Given the description of an element on the screen output the (x, y) to click on. 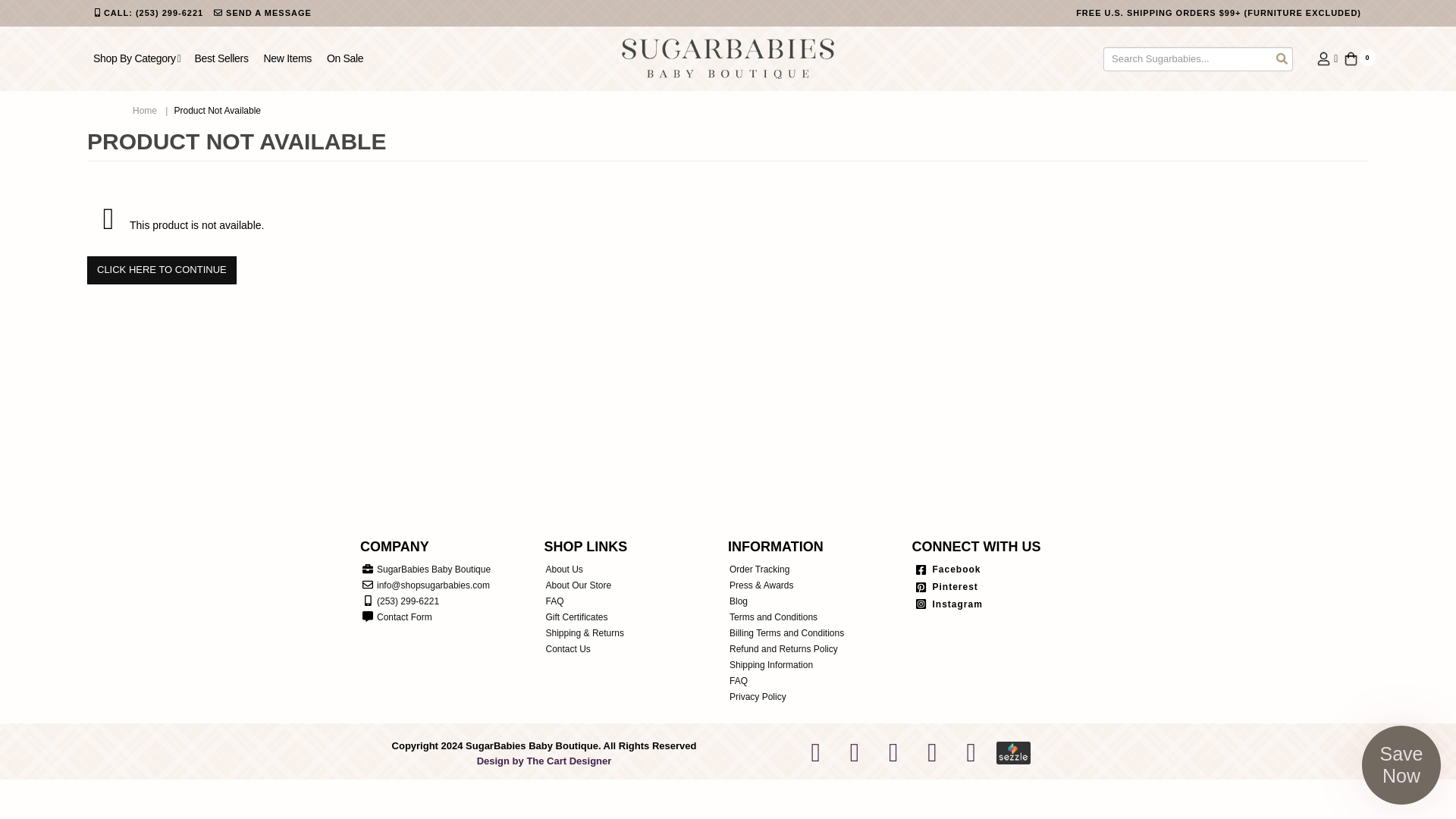
Store Email (433, 584)
New Items (287, 58)
Like Us on Facebook (946, 571)
Contact Us (404, 616)
Click here to continue (161, 270)
Follow Us on Pinterest (944, 588)
Store Name (433, 569)
Top Sellers (221, 58)
Store Phone (408, 601)
Search Our Store (1280, 58)
